Given the description of an element on the screen output the (x, y) to click on. 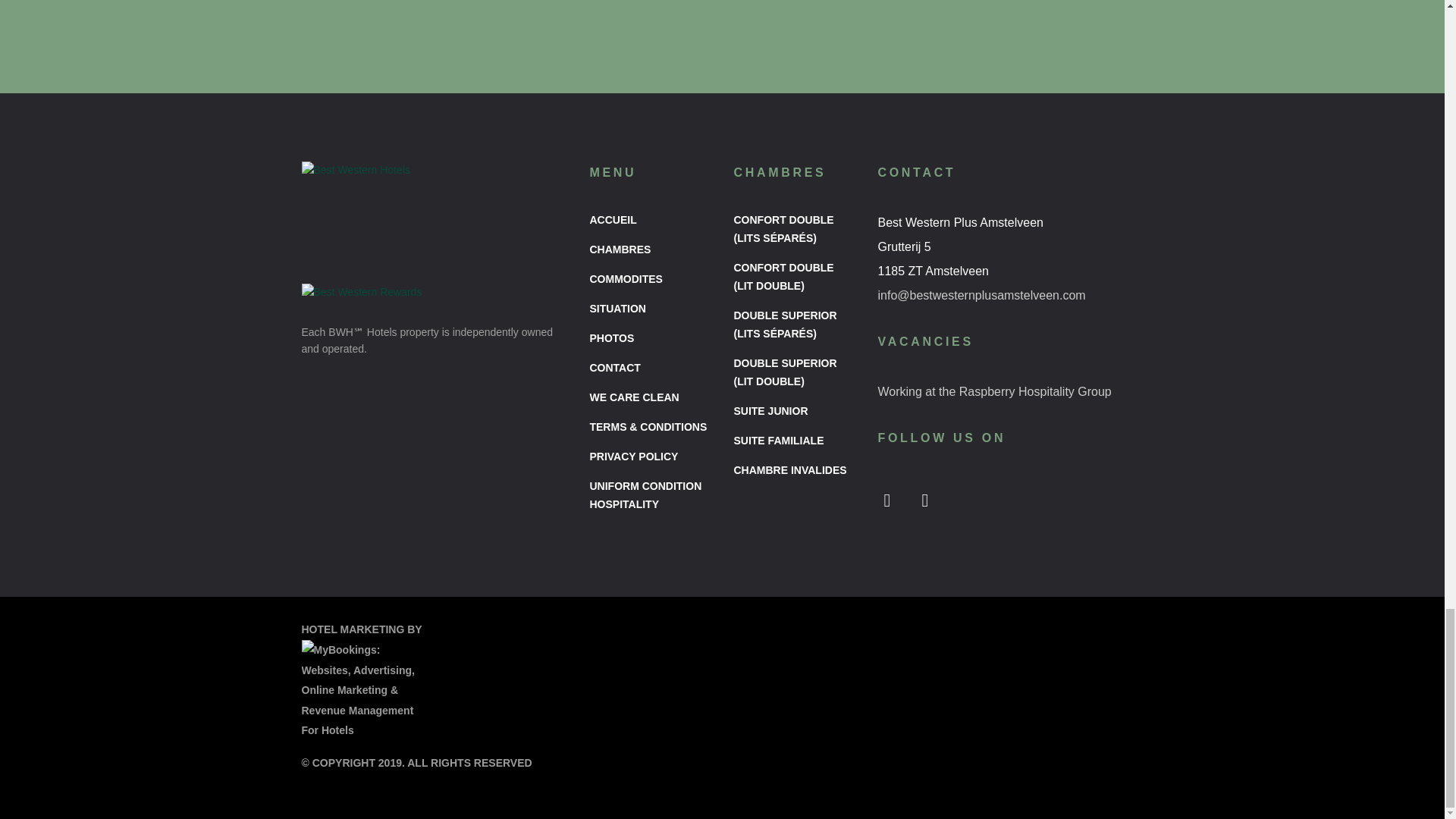
Instagram (924, 500)
COMMODITES (649, 279)
ACCUEIL (649, 219)
PHOTOS (649, 338)
Facebook (887, 500)
CHAMBRES (649, 249)
SITUATION (649, 308)
